Given the description of an element on the screen output the (x, y) to click on. 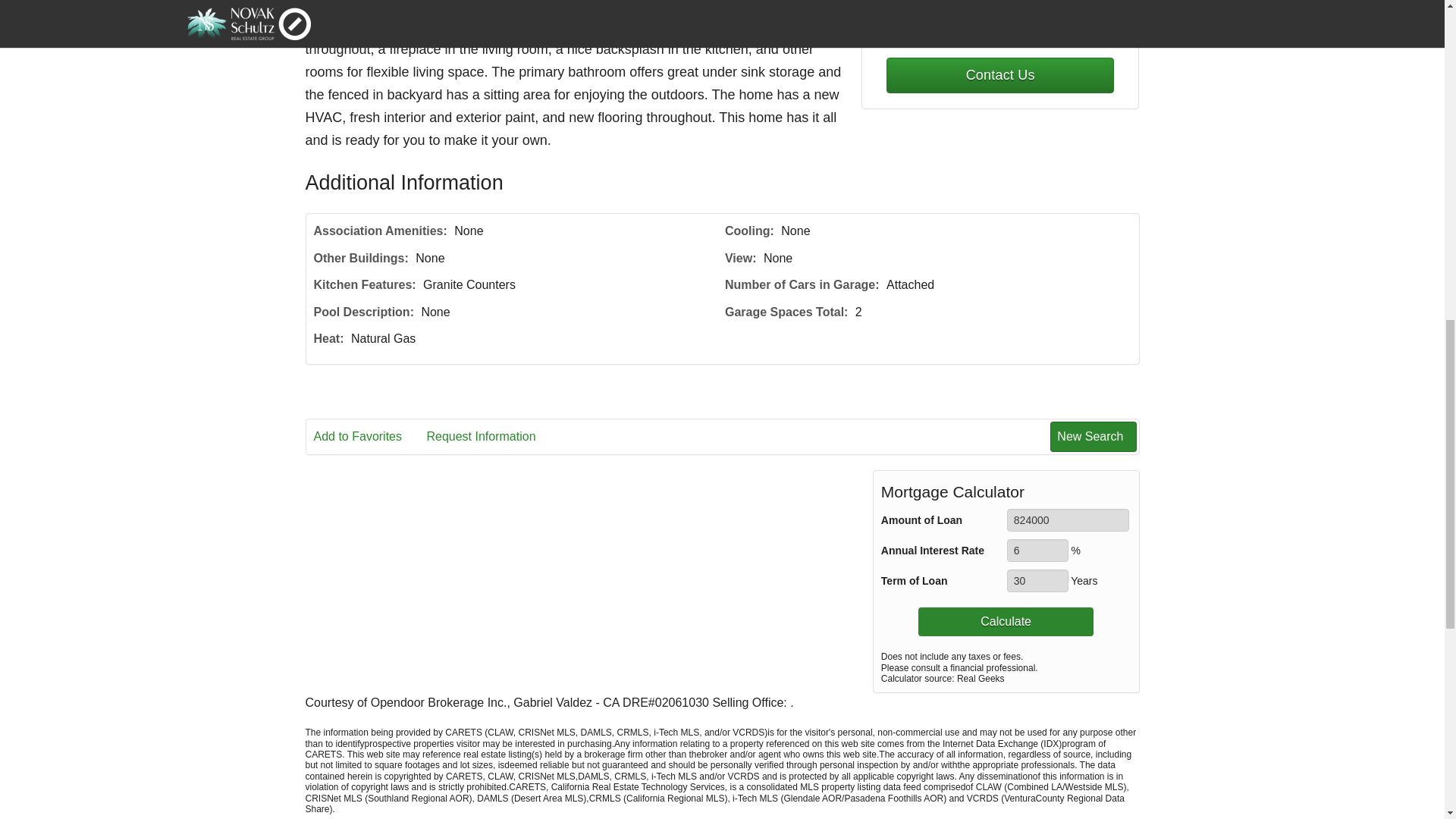
6 (1037, 549)
824000 (1068, 519)
Contact Us (999, 75)
30 (1037, 580)
